Given the description of an element on the screen output the (x, y) to click on. 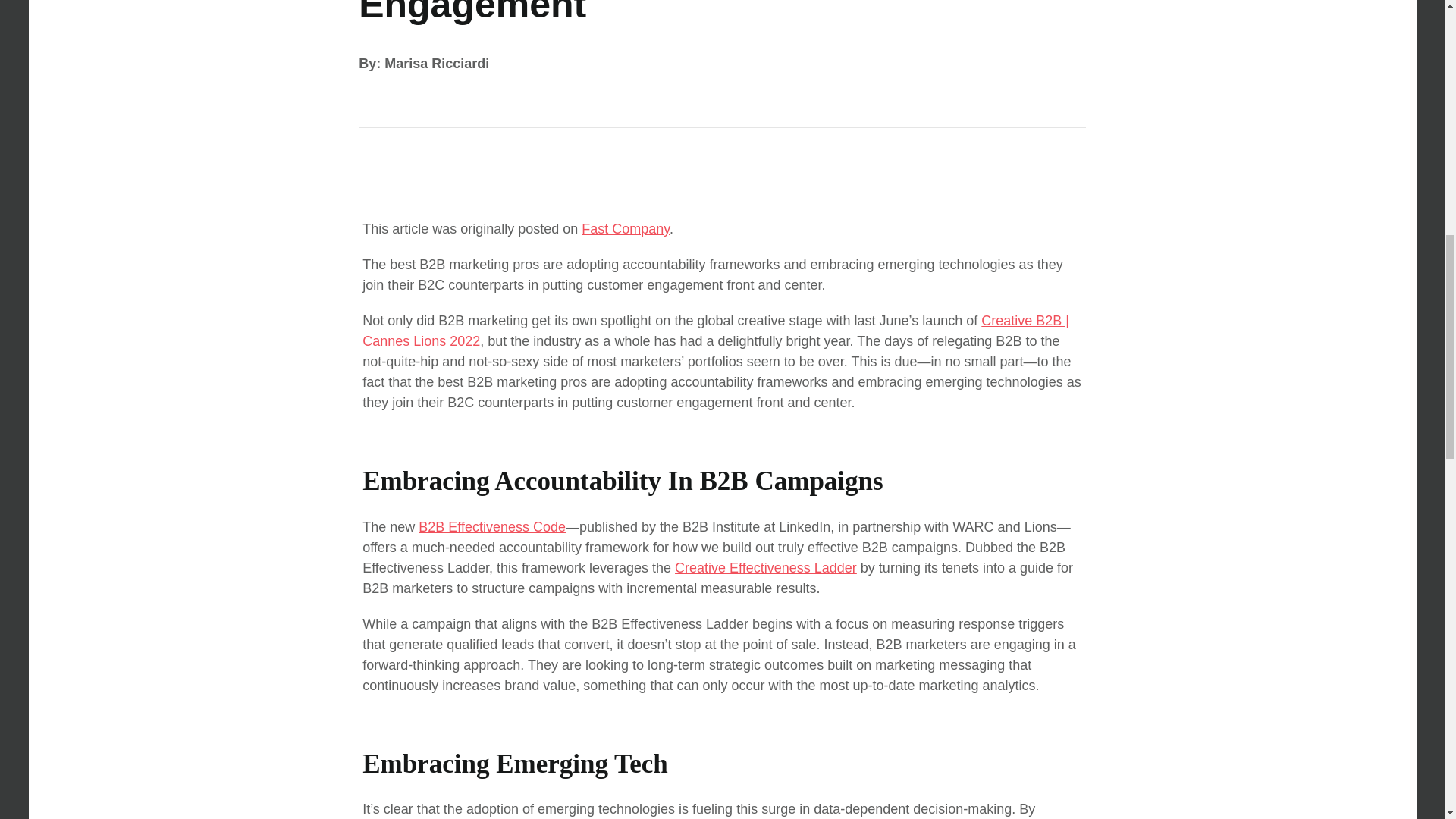
Creative Effectiveness Ladder (766, 566)
Fast Company (624, 228)
B2B Effectiveness Code (492, 525)
